Given the description of an element on the screen output the (x, y) to click on. 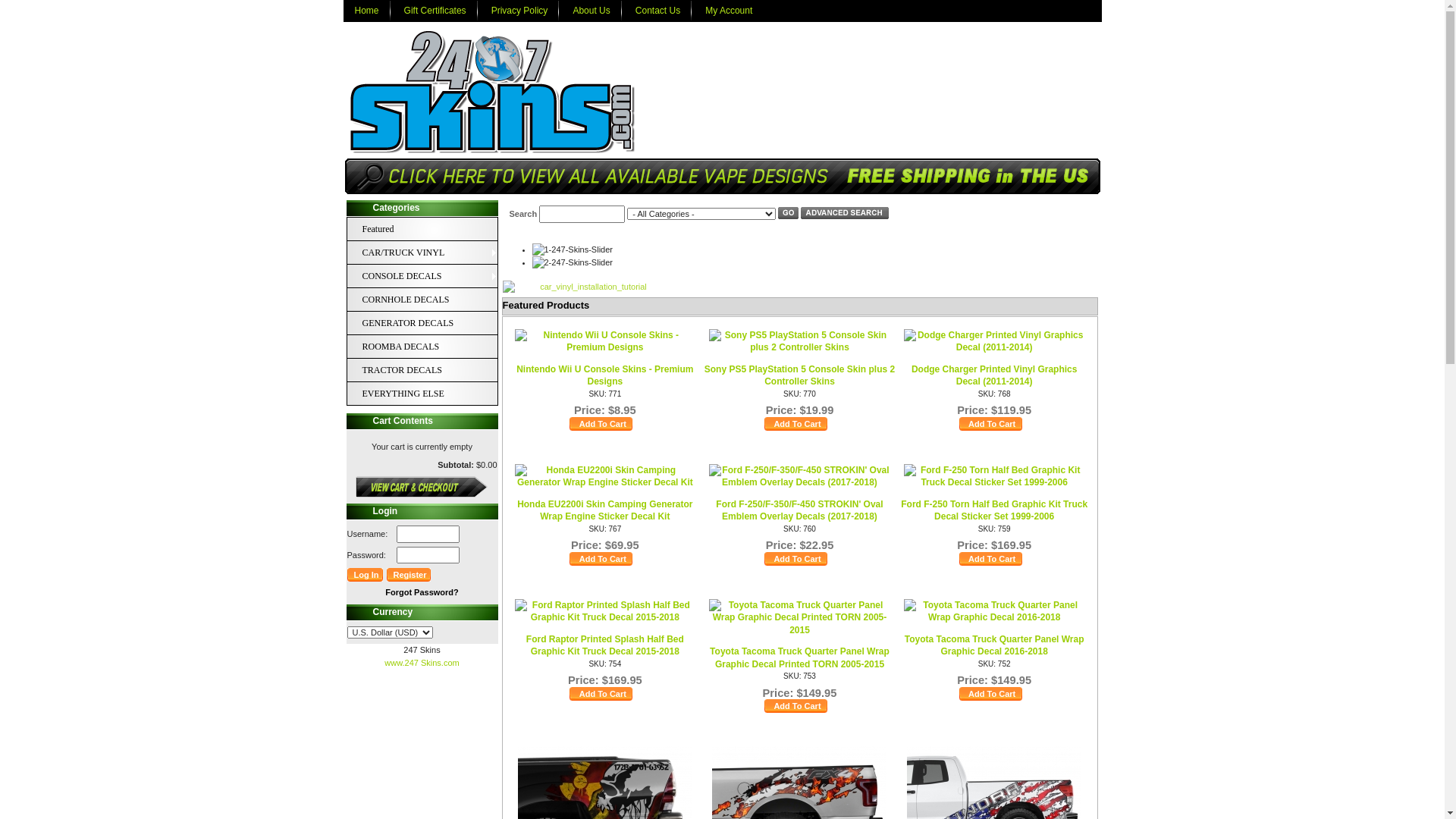
EVERYTHING ELSE Element type: text (429, 393)
CONSOLE DECALS Element type: text (429, 275)
Add To Cart Element type: text (796, 558)
Featured Element type: text (429, 228)
Add To Cart Element type: text (796, 705)
2-247-Skins-Slider Element type: hover (572, 262)
TRACTOR DECALS Element type: text (429, 369)
Forgot Password? Element type: text (421, 591)
1-247-Skins-Slider Element type: hover (572, 249)
CORNHOLE DECALS Element type: text (429, 299)
CAR/TRUCK VINYL Element type: text (429, 252)
Add To Cart Element type: text (991, 423)
Add To Cart Element type: text (991, 693)
Gift Certificates Element type: text (434, 10)
Featured Element type: text (414, 228)
Add To Cart Element type: text (796, 423)
Dodge Charger Printed Vinyl Graphics Decal (2011-2014) Element type: text (994, 375)
Home Element type: text (365, 10)
GENERATOR DECALS Element type: text (414, 322)
TRACTOR DECALS Element type: text (414, 369)
Car Vinyl Installation Tutorial Element type: hover (586, 286)
EVERYTHING ELSE Element type: text (414, 393)
ROOMBA DECALS Element type: text (414, 346)
Add To Cart Element type: text (991, 558)
www.247 Skins.com Element type: text (421, 662)
Add To Cart Element type: text (601, 693)
Log In Element type: text (365, 574)
ROOMBA DECALS Element type: text (429, 346)
My Account Element type: text (728, 10)
Privacy Policy Element type: text (519, 10)
CORNHOLE DECALS Element type: text (414, 299)
Nintendo Wii U Console Skins - Premium Designs Element type: text (604, 375)
Add To Cart Element type: text (601, 558)
GENERATOR DECALS Element type: text (429, 322)
CONSOLE DECALS Element type: text (414, 275)
Contact Us Element type: text (657, 10)
Register Element type: text (408, 574)
Sony PS5 PlayStation 5 Console Skin plus 2 Controller Skins Element type: text (799, 375)
Add To Cart Element type: text (601, 423)
CAR/TRUCK VINYL Element type: text (414, 252)
About Us Element type: text (591, 10)
